Given the description of an element on the screen output the (x, y) to click on. 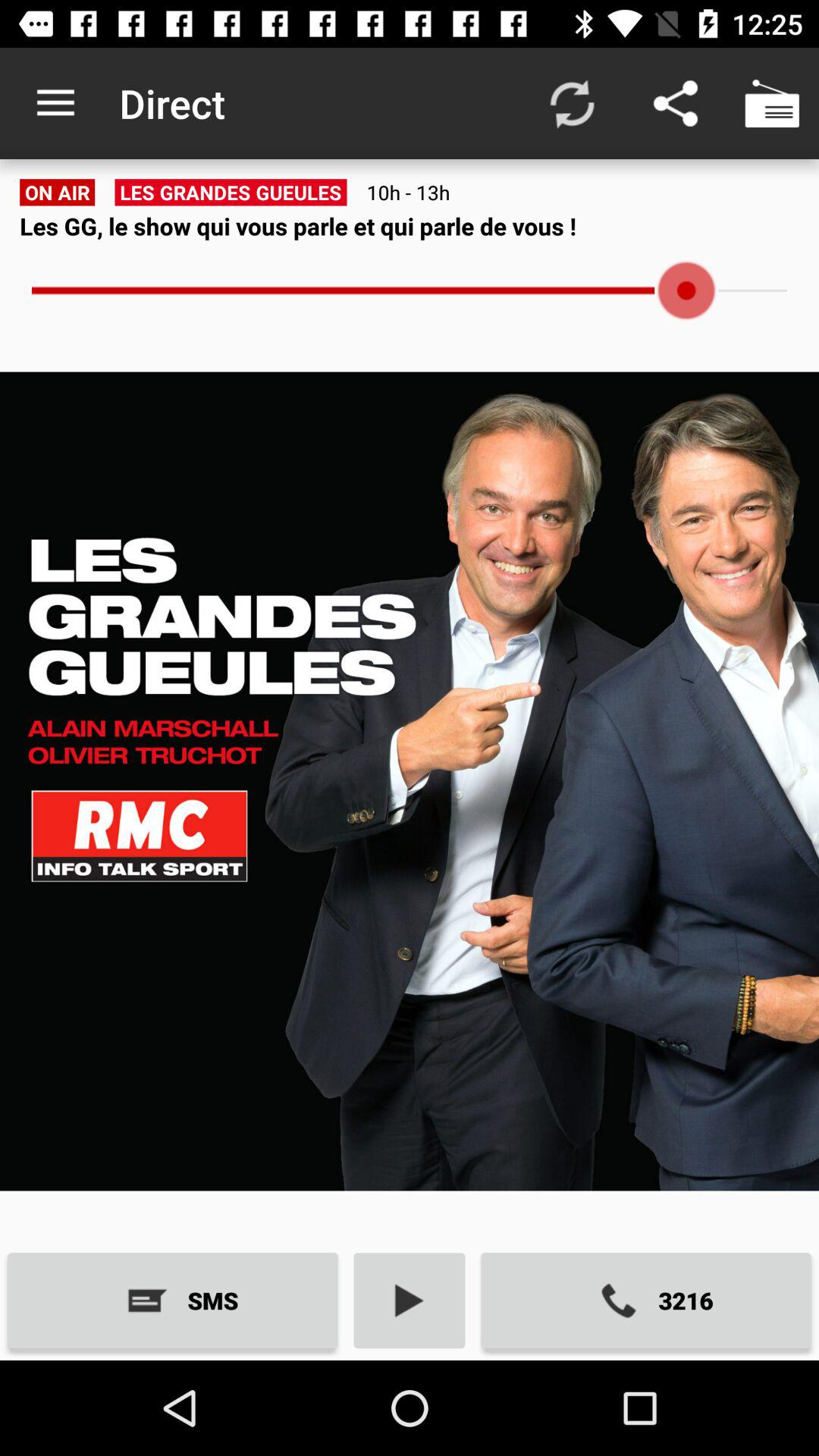
select the 3216 at the bottom right corner (646, 1300)
